Given the description of an element on the screen output the (x, y) to click on. 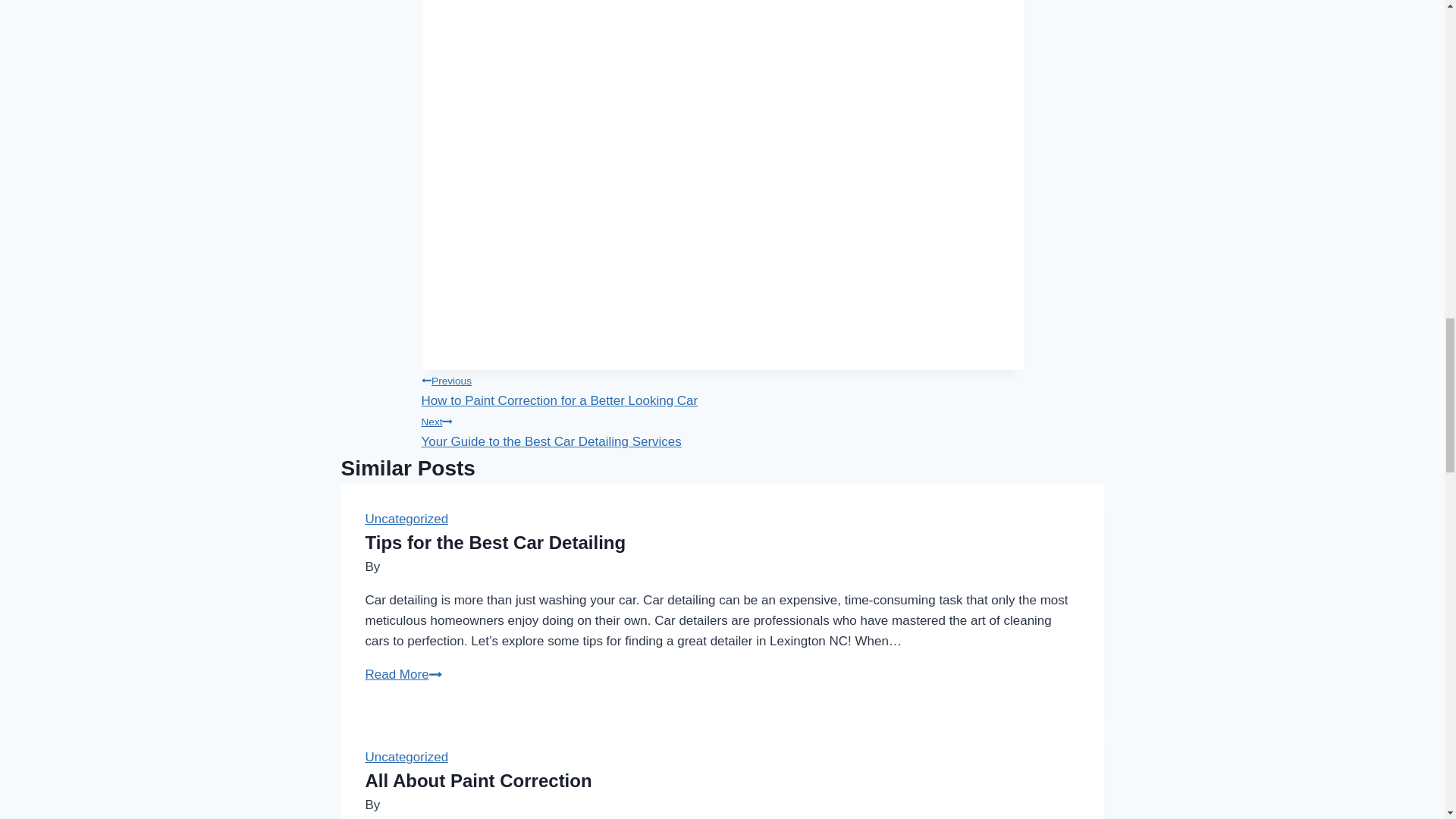
Uncategorized (406, 757)
All About Paint Correction (403, 674)
Tips for the Best Car Detailing (478, 780)
Clean LS Swap 63' Impala (722, 388)
Uncategorized (495, 542)
